Given the description of an element on the screen output the (x, y) to click on. 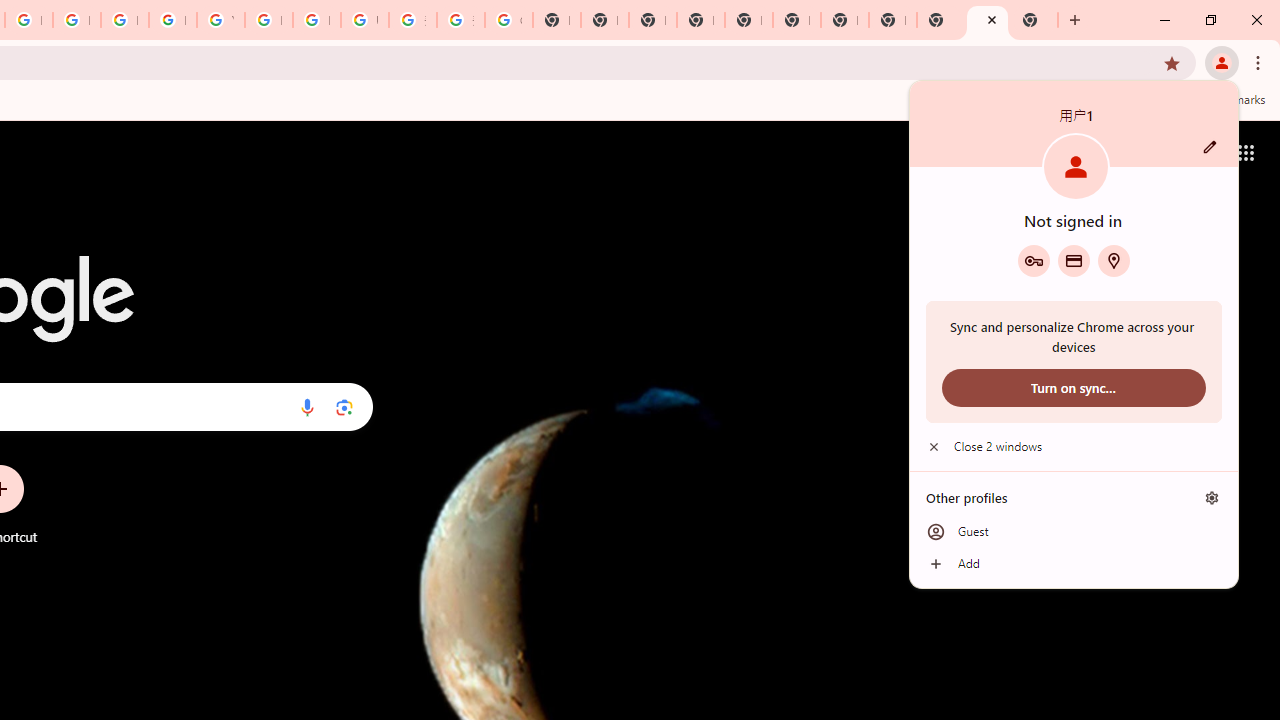
Add (1073, 563)
New Tab (1034, 20)
Manage profiles (1211, 498)
Google Password Manager (1033, 260)
New Tab (700, 20)
Privacy Help Center - Policies Help (76, 20)
